Given the description of an element on the screen output the (x, y) to click on. 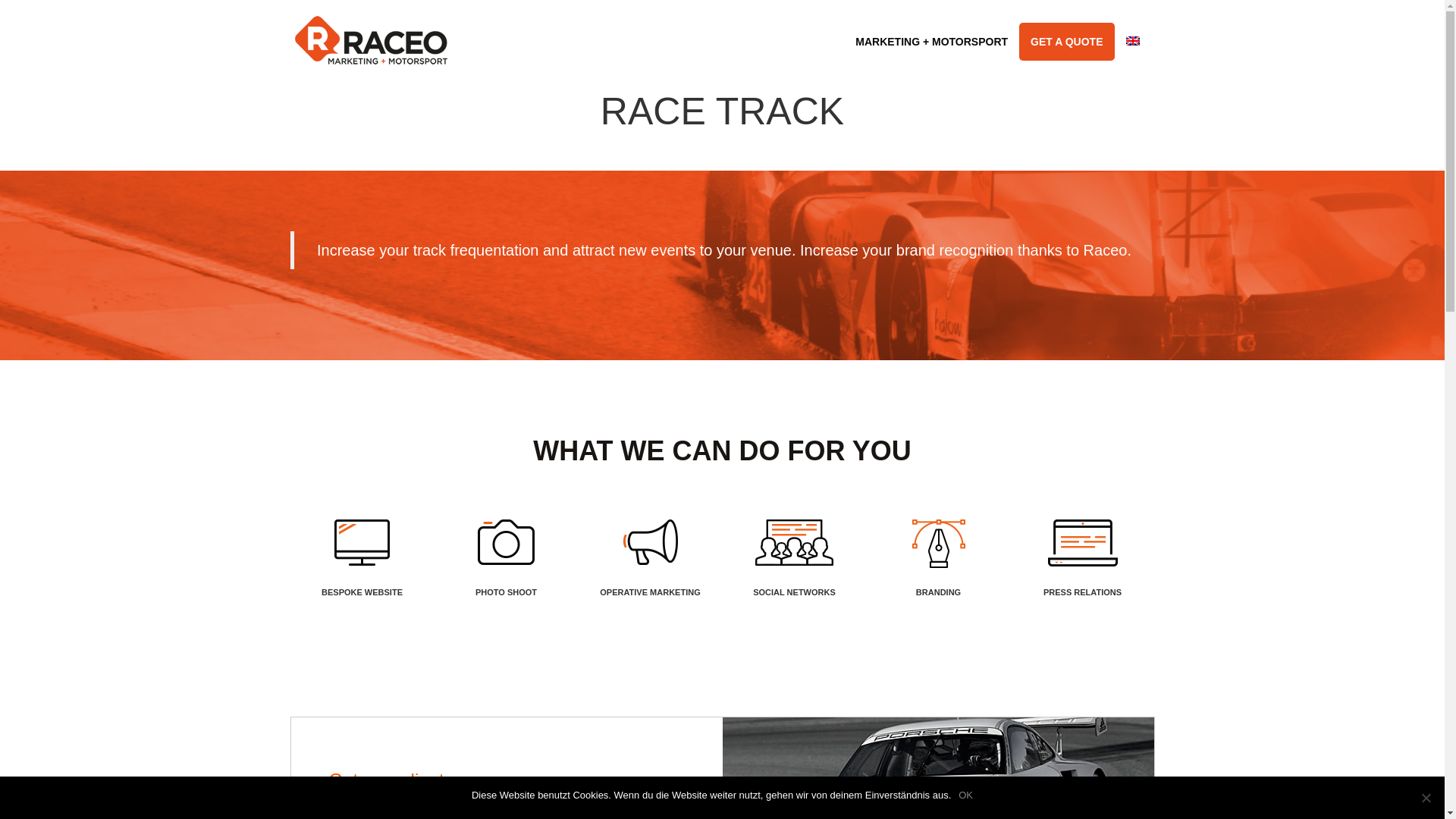
GET A QUOTE (1066, 41)
OK (965, 794)
